Given the description of an element on the screen output the (x, y) to click on. 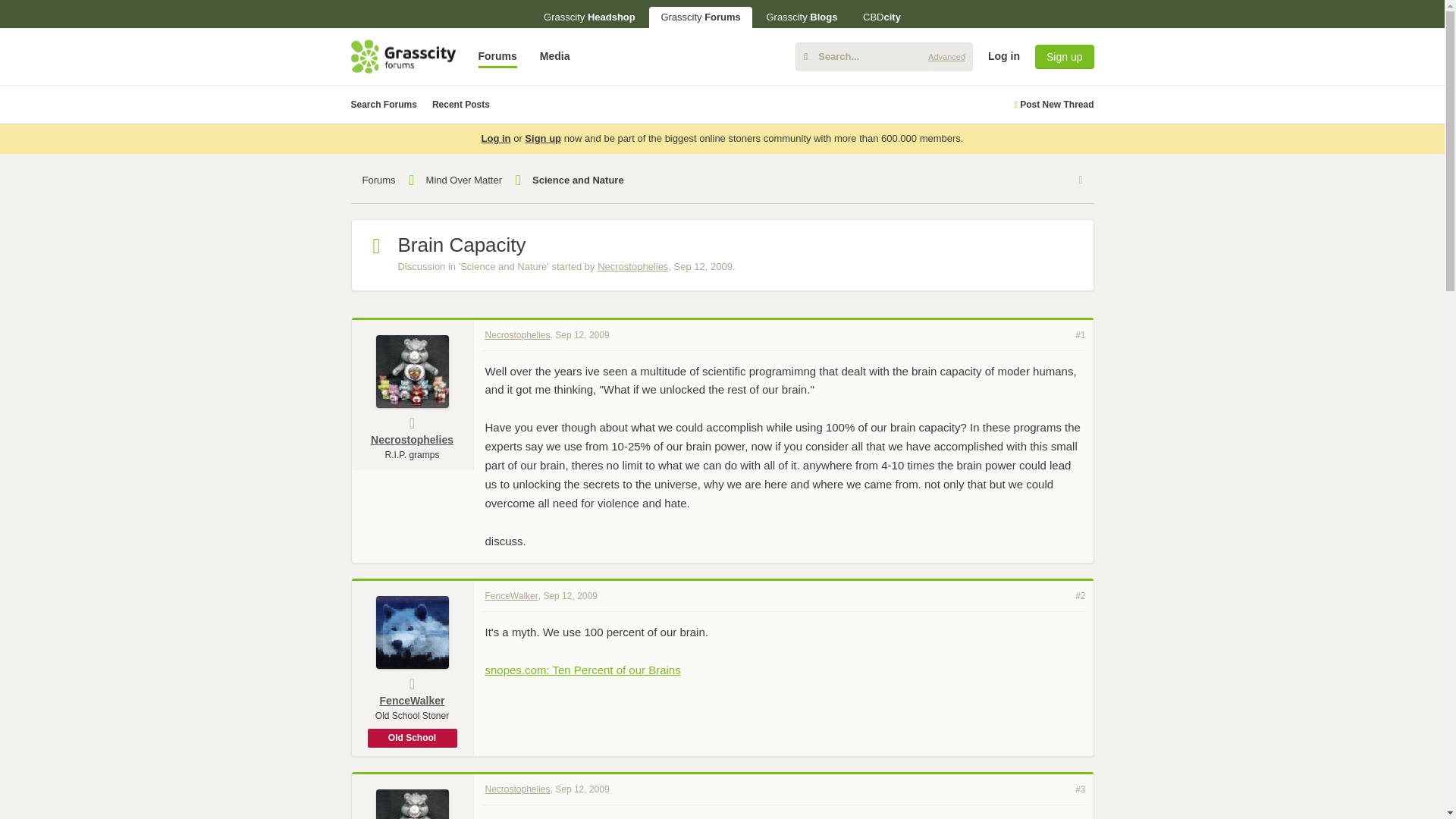
Permalink (581, 334)
CBDcity (881, 16)
Log in (1316, 172)
Sep 12, 2009 at 6:22 AM (703, 266)
Advanced (946, 56)
Media (554, 56)
Search Forums (383, 104)
Grasscity Blogs (801, 16)
Sign up (1064, 56)
Recent Posts (460, 104)
